Given the description of an element on the screen output the (x, y) to click on. 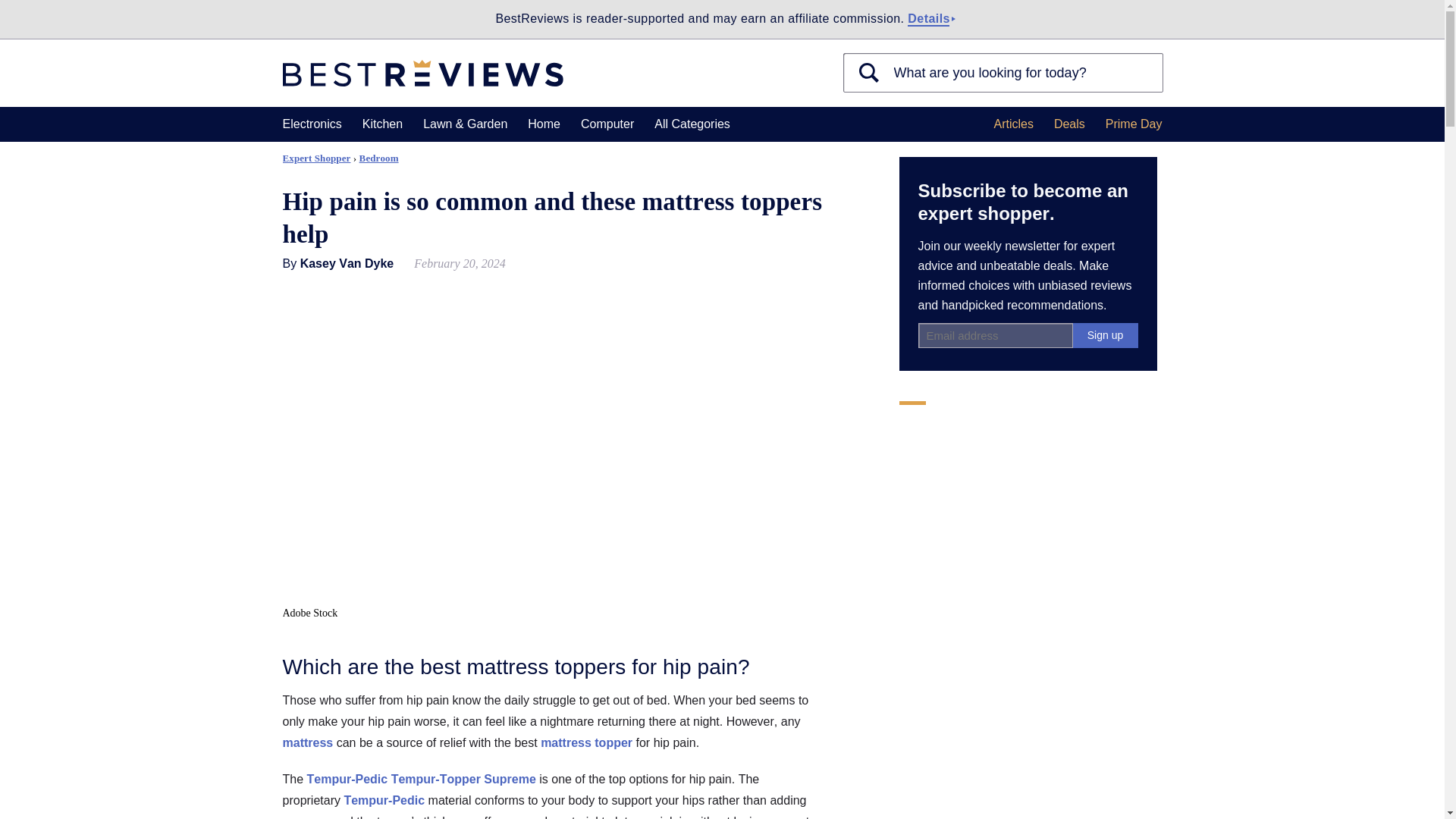
Prime Day (1133, 124)
Deals (1069, 124)
Details (928, 19)
Bedroom (378, 157)
Subscribe email (994, 335)
Kitchen (382, 124)
Computer (606, 124)
Expert Shopper (316, 157)
All Categories (691, 124)
Home (543, 124)
Electronics (311, 124)
BestReviews Branding Logo (422, 73)
mattress topper (585, 742)
Articles (1012, 124)
Tempur-Pedic Tempur-Topper Supreme (421, 779)
